Given the description of an element on the screen output the (x, y) to click on. 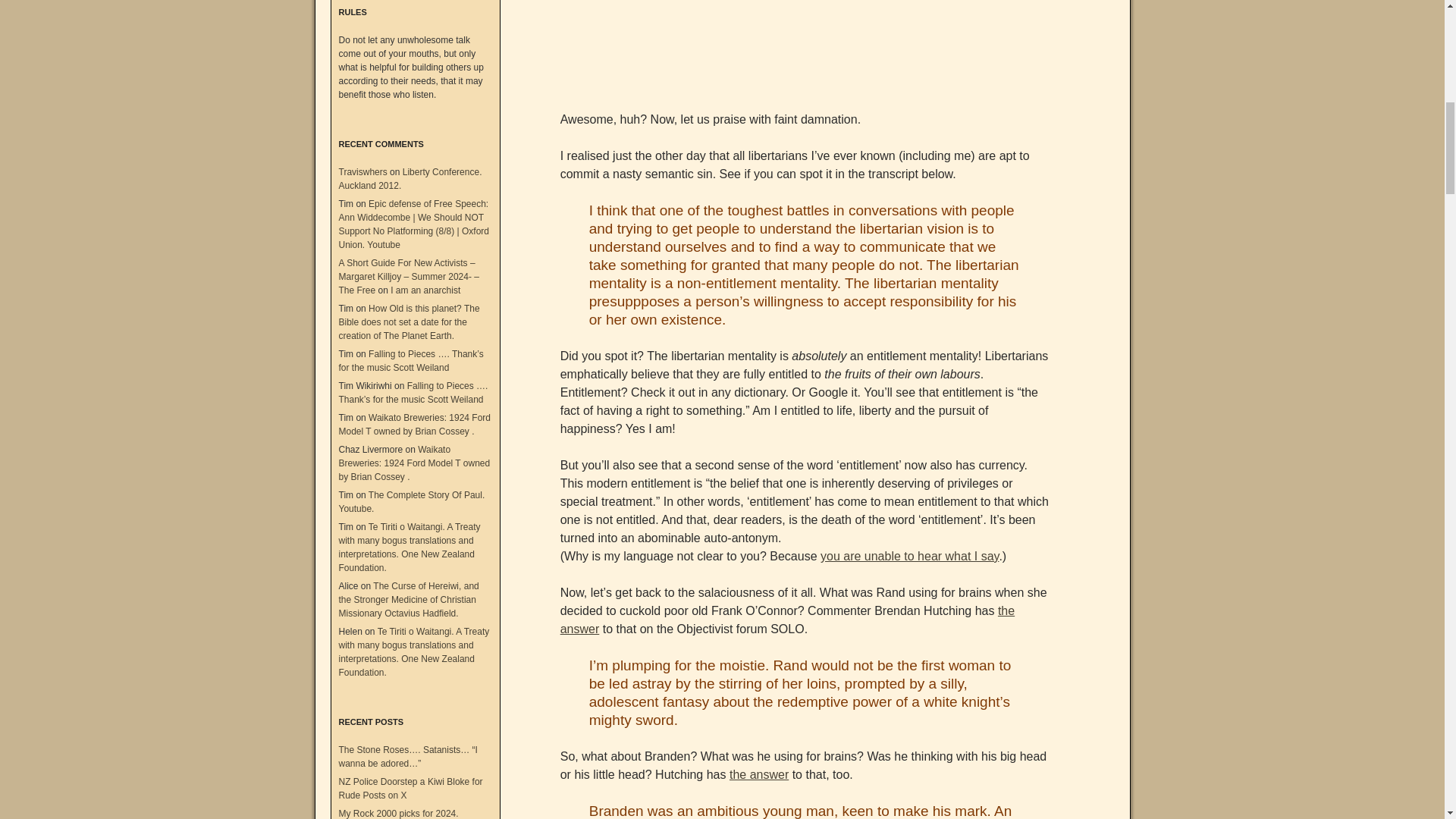
you are unable to hear what I say (909, 555)
the answer (787, 619)
the answer (759, 774)
